Given the description of an element on the screen output the (x, y) to click on. 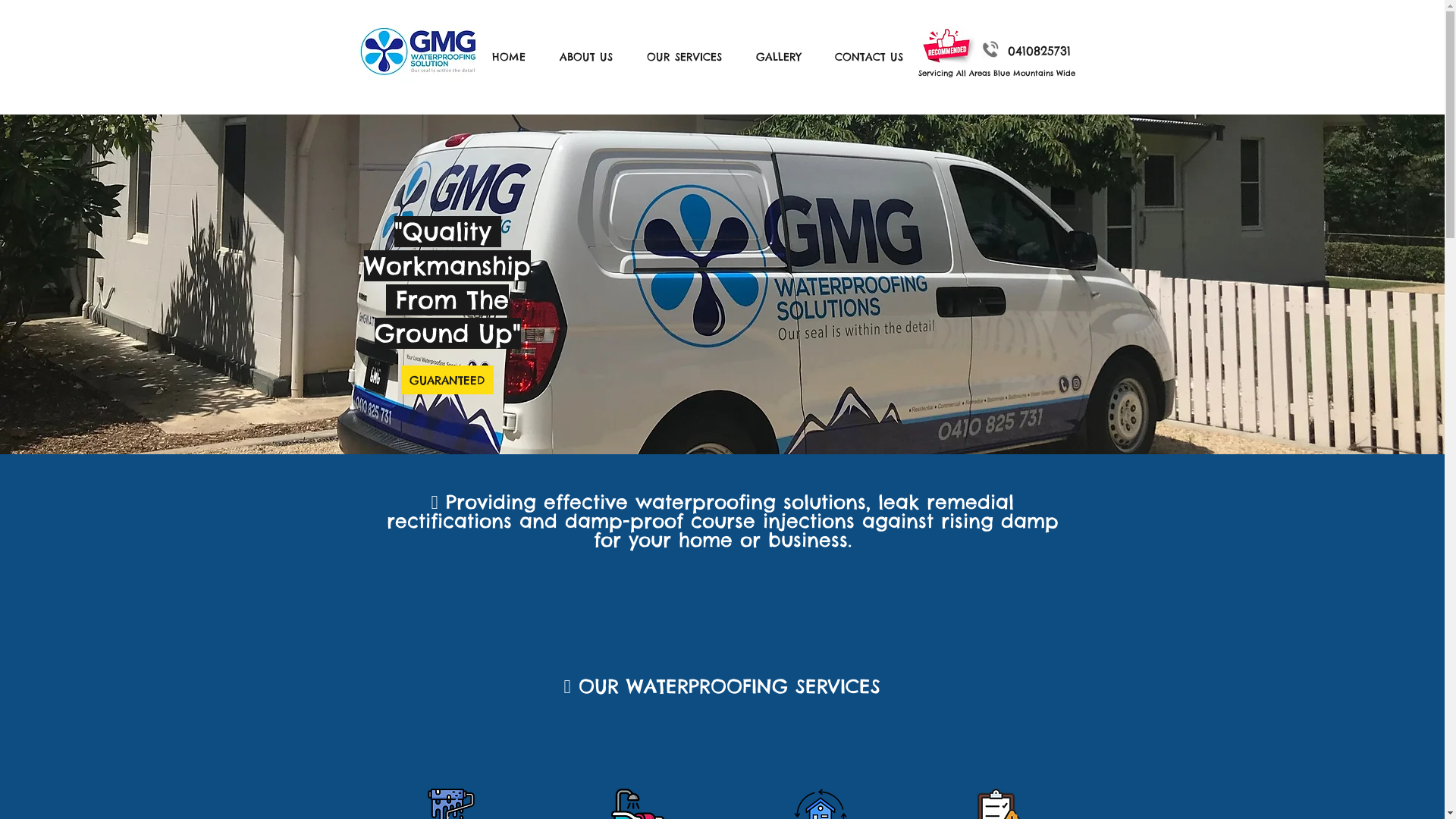
ABOUT US Element type: text (590, 56)
GALLERY Element type: text (783, 56)
HOME Element type: text (514, 56)
CONTACT US Element type: text (874, 56)
OUR SERVICES Element type: text (689, 56)
